Given the description of an element on the screen output the (x, y) to click on. 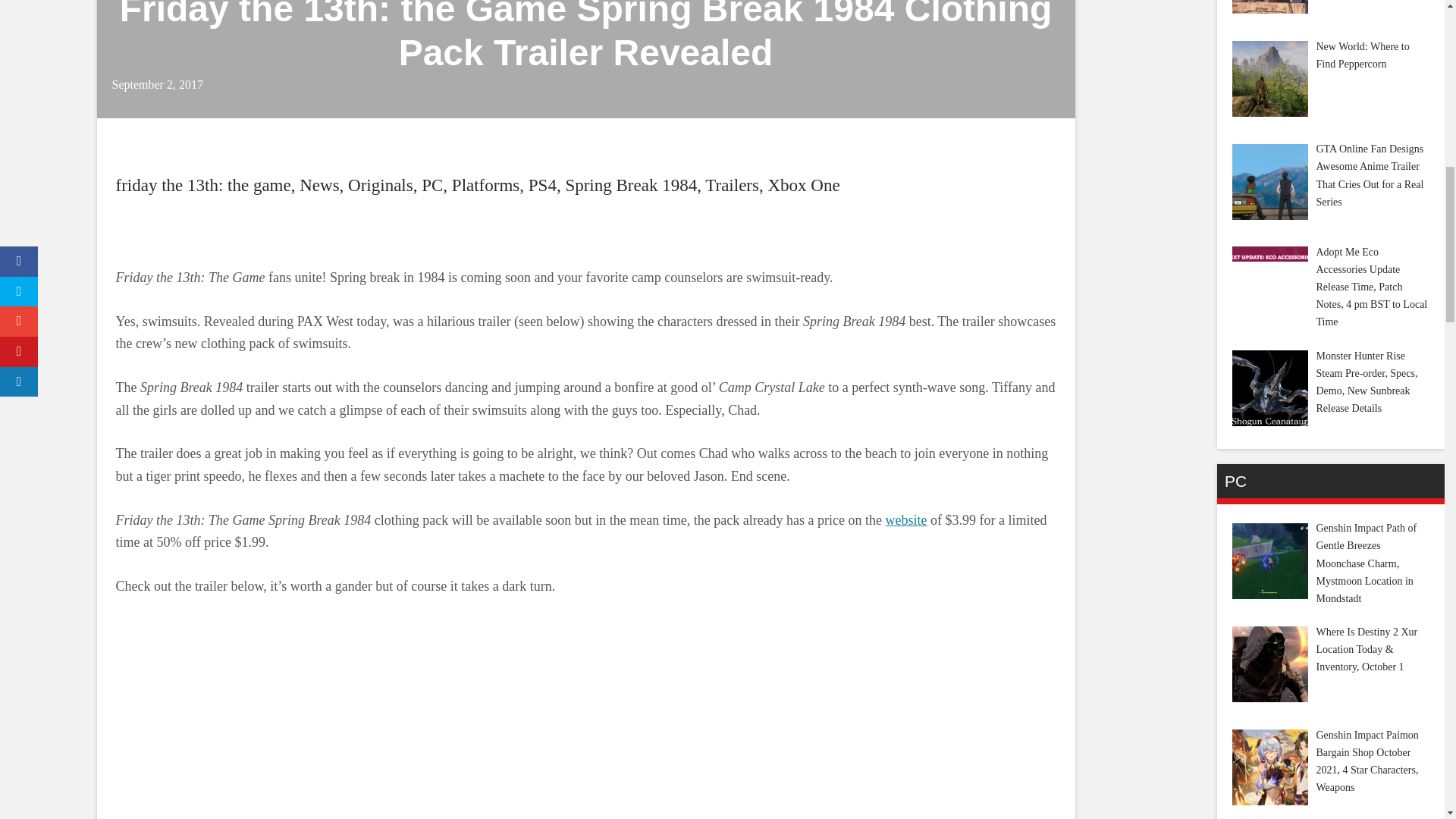
PS4 (542, 185)
PC (432, 185)
Xbox One (803, 185)
Trailers (731, 185)
friday the 13th: the game (202, 185)
Spring Break 1984 (630, 185)
Originals (380, 185)
Platforms (485, 185)
News (319, 185)
